Given the description of an element on the screen output the (x, y) to click on. 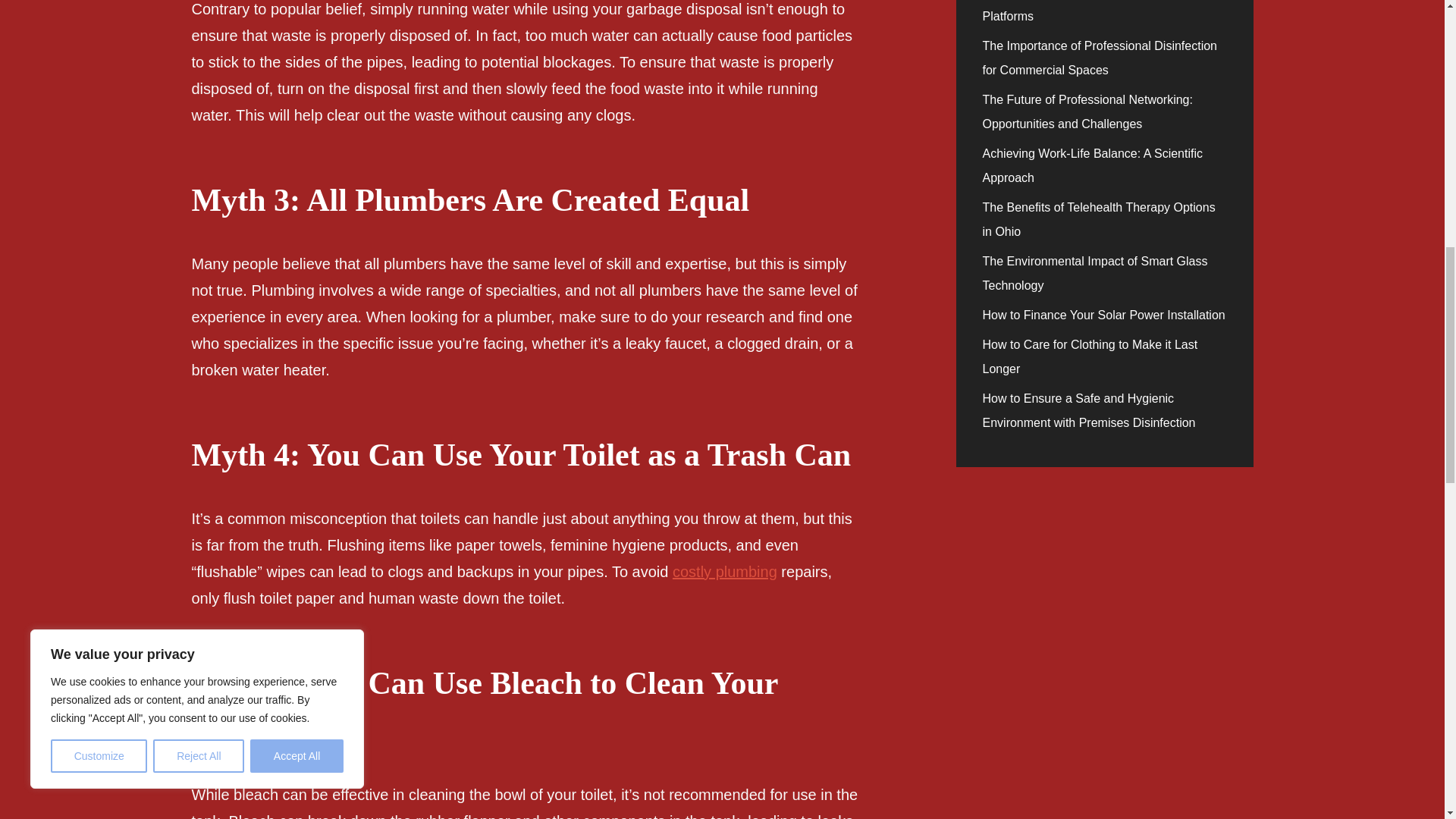
Ensuring the Legitimacy of Online Gambling Platforms (1101, 11)
costly plumbing (724, 571)
